Given the description of an element on the screen output the (x, y) to click on. 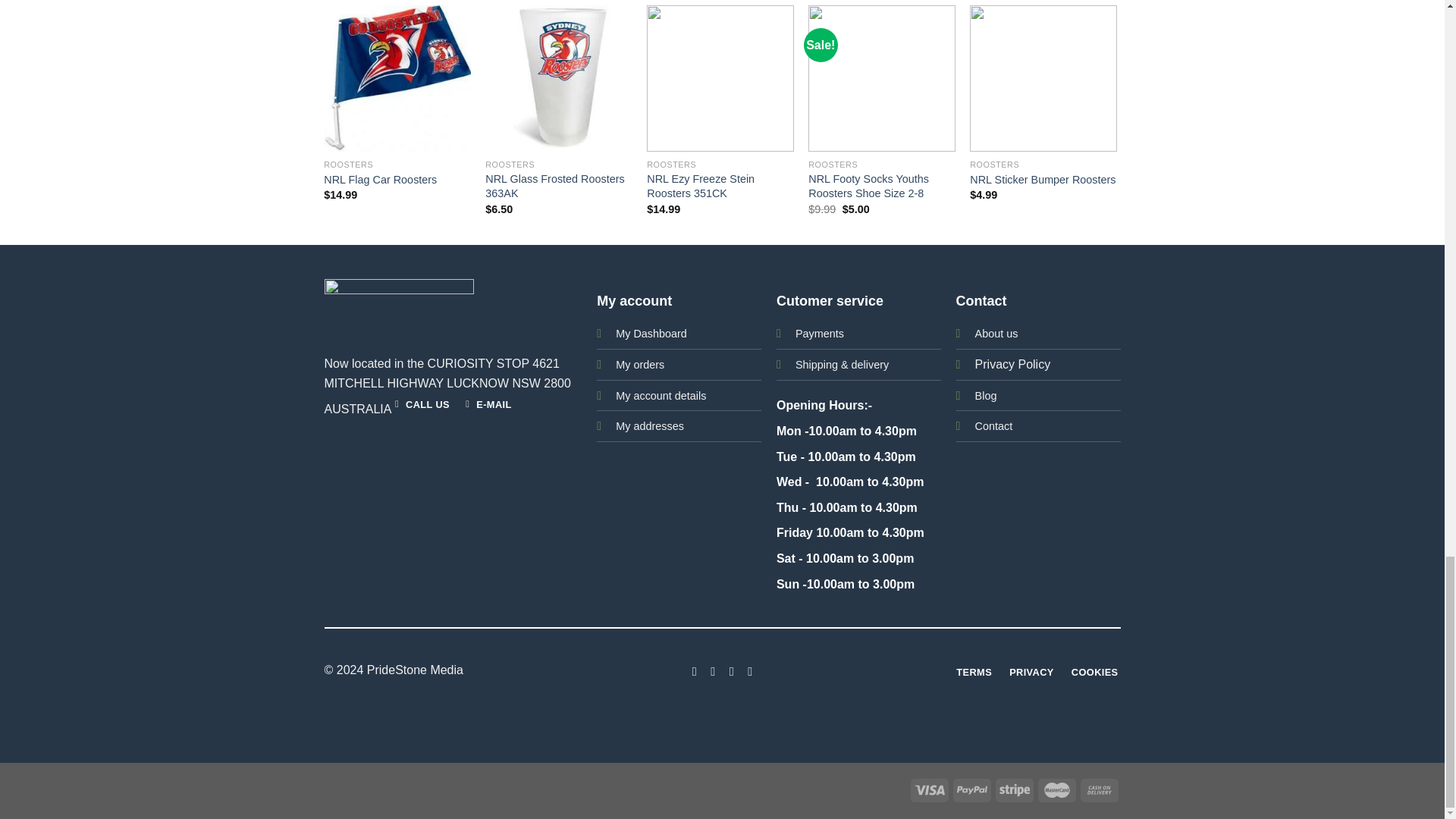
Follow on Facebook (694, 670)
Follow on Instagram (712, 670)
Follow on Twitter (731, 670)
Follow on LinkedIn (749, 670)
